Given the description of an element on the screen output the (x, y) to click on. 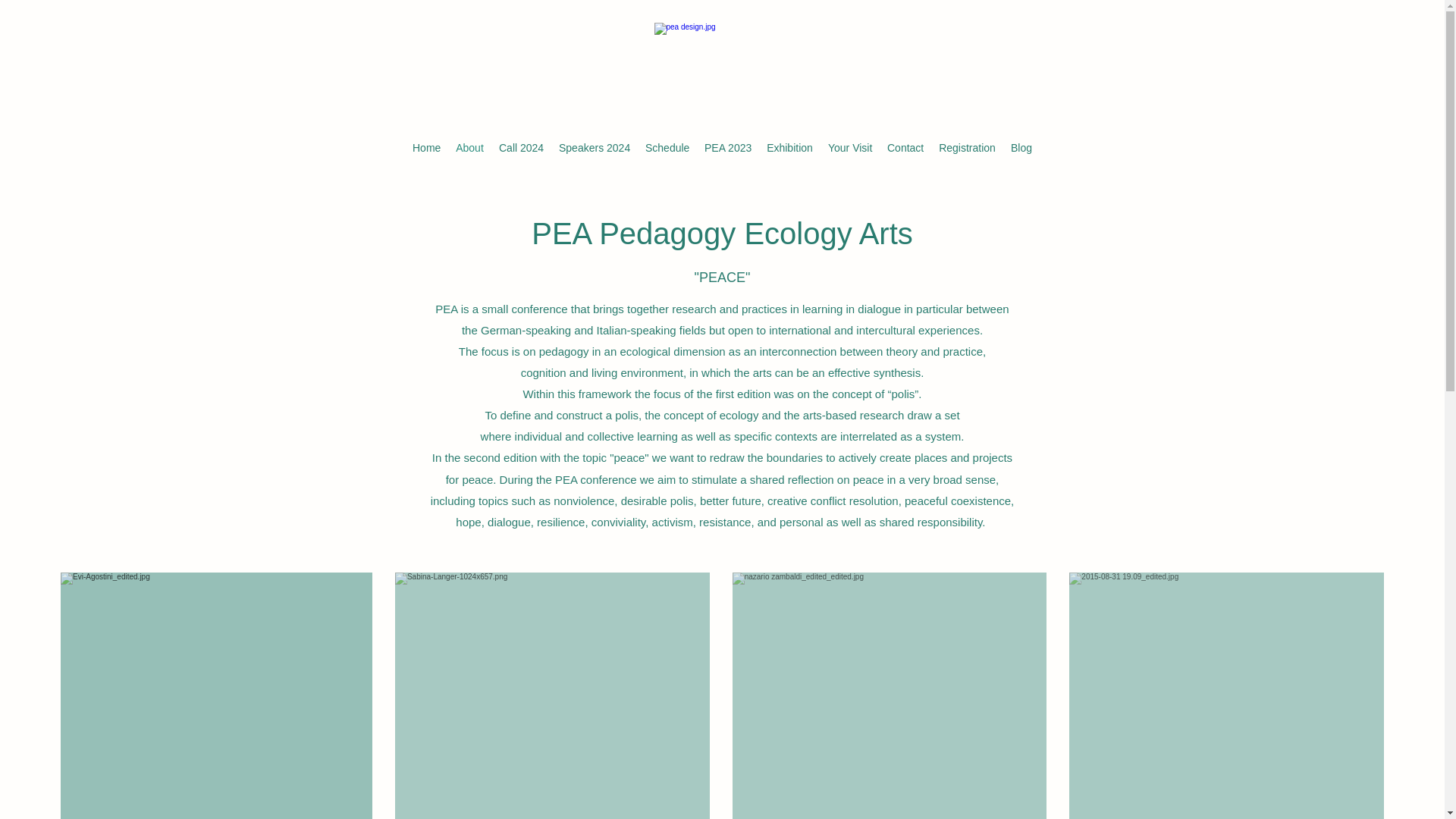
Exhibition (789, 147)
Blog (1021, 147)
Call 2024 (521, 147)
Your Visit (850, 147)
Registration (967, 147)
PEA 2023 (727, 147)
Schedule (667, 147)
Speakers 2024 (594, 147)
Home (426, 147)
Contact (905, 147)
About (470, 147)
